Given the description of an element on the screen output the (x, y) to click on. 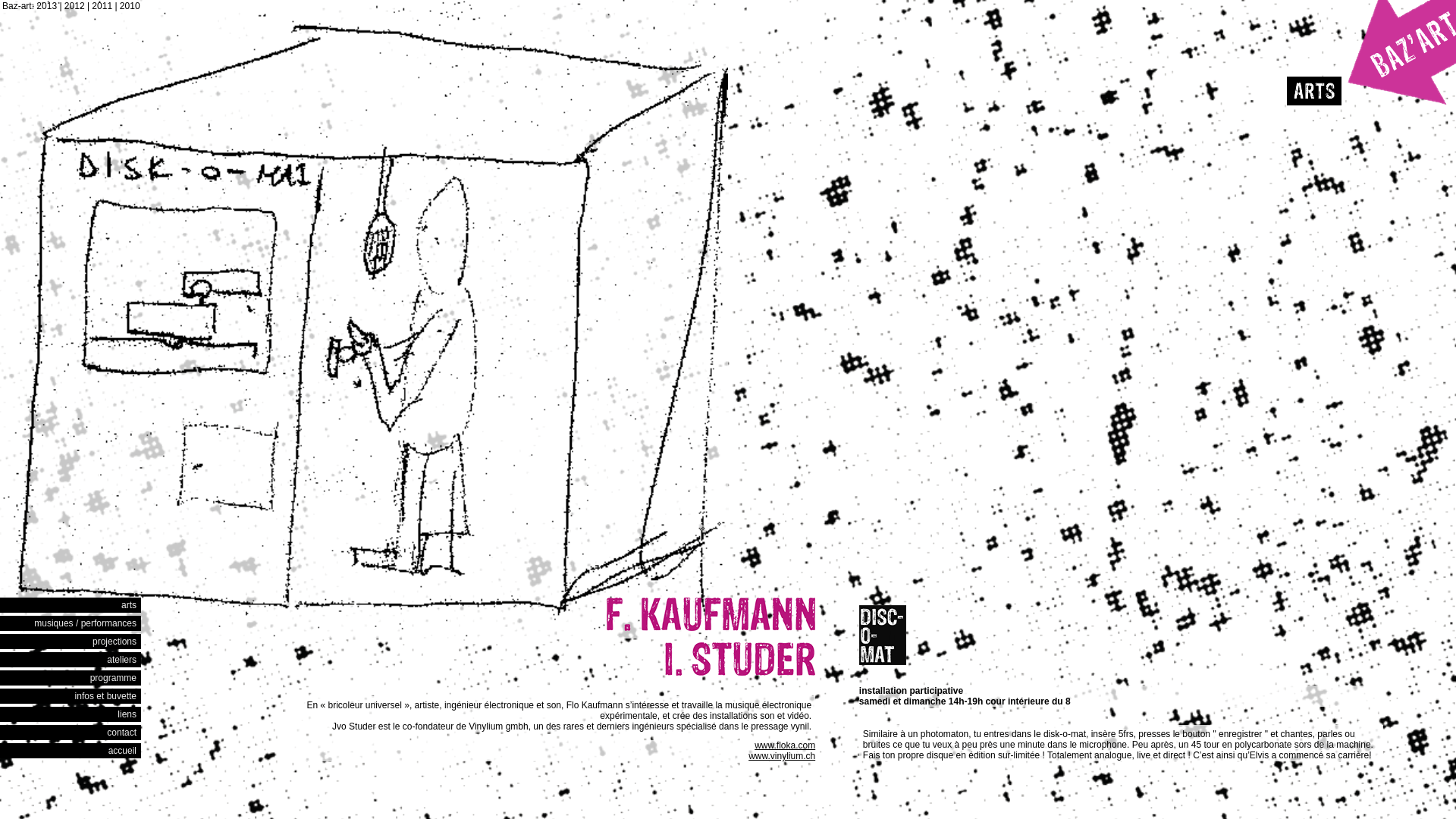
2010 Element type: text (129, 5)
programme Element type: text (70, 677)
liens Element type: text (70, 713)
arts Element type: text (70, 604)
infos et buvette Element type: text (70, 695)
2013 Element type: text (46, 5)
www.floka.com Element type: text (784, 745)
2011 Element type: text (101, 5)
ateliers Element type: text (70, 659)
accueil Element type: text (70, 750)
contact Element type: text (70, 732)
2012 Element type: text (74, 5)
musiques / performances Element type: text (70, 622)
www.vinylium.ch Element type: text (781, 755)
projections Element type: text (70, 641)
